Given the description of an element on the screen output the (x, y) to click on. 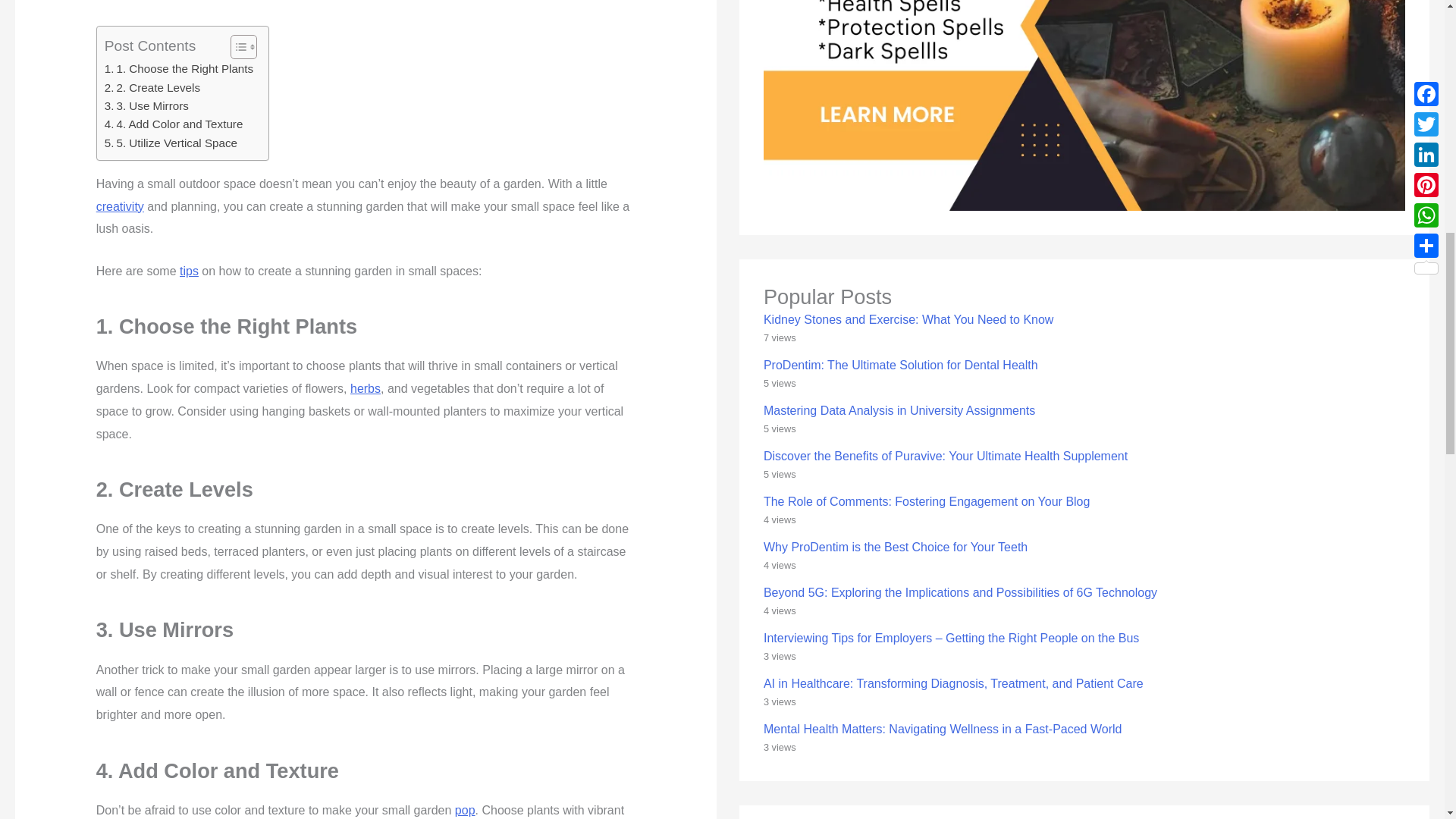
1. Choose the Right Plants (178, 68)
1. Choose the Right Plants (178, 68)
pop (465, 809)
3. Use Mirrors (146, 106)
herbs (365, 388)
5. Utilize Vertical Space (170, 143)
tips (188, 270)
creativity (120, 205)
4. Add Color and Texture (173, 124)
2. Create Levels (152, 87)
4. Add Color and Texture (173, 124)
3. Use Mirrors (146, 106)
2. Create Levels (152, 87)
5. Utilize Vertical Space (170, 143)
